Given the description of an element on the screen output the (x, y) to click on. 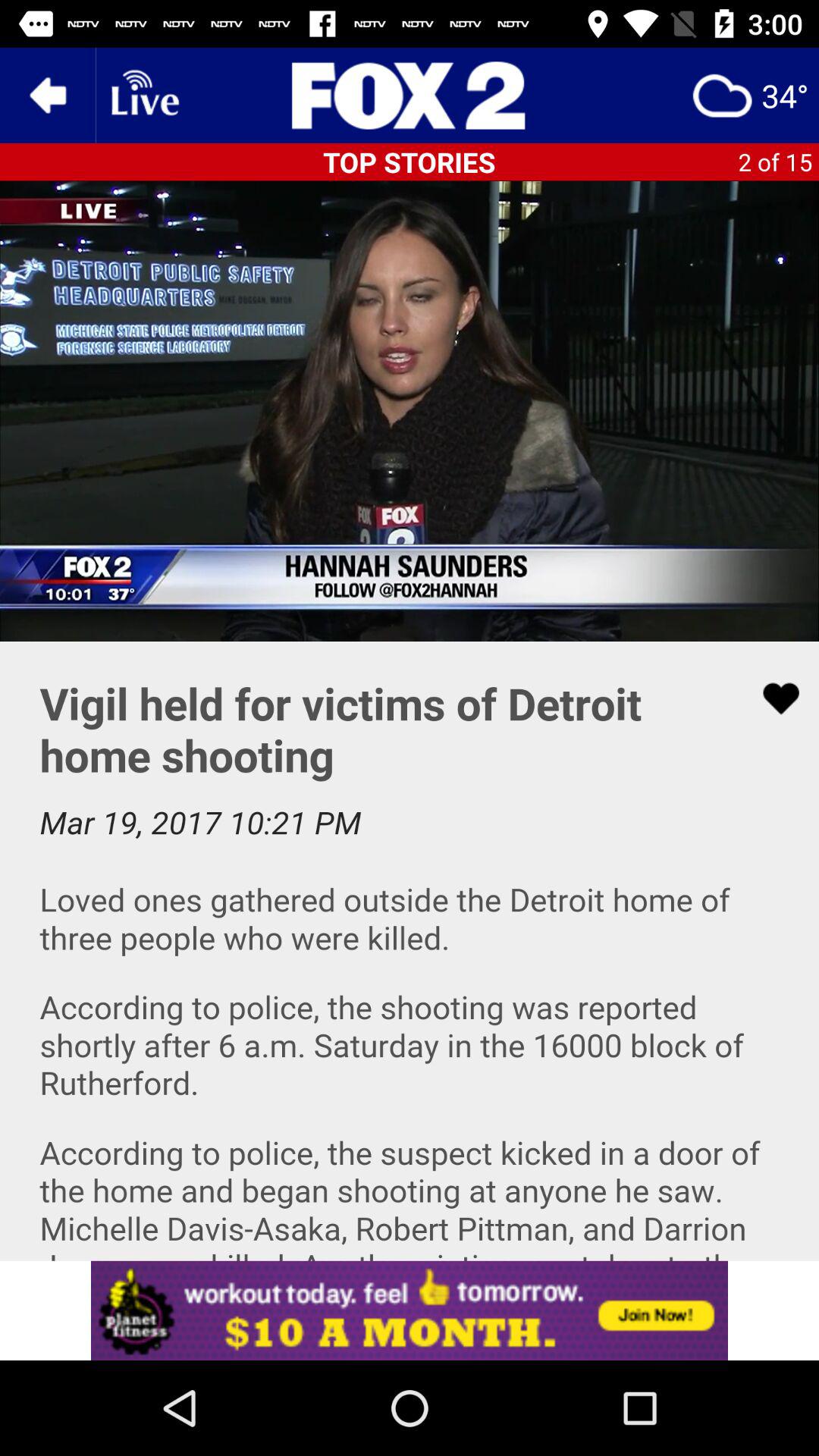
headline (409, 95)
